Given the description of an element on the screen output the (x, y) to click on. 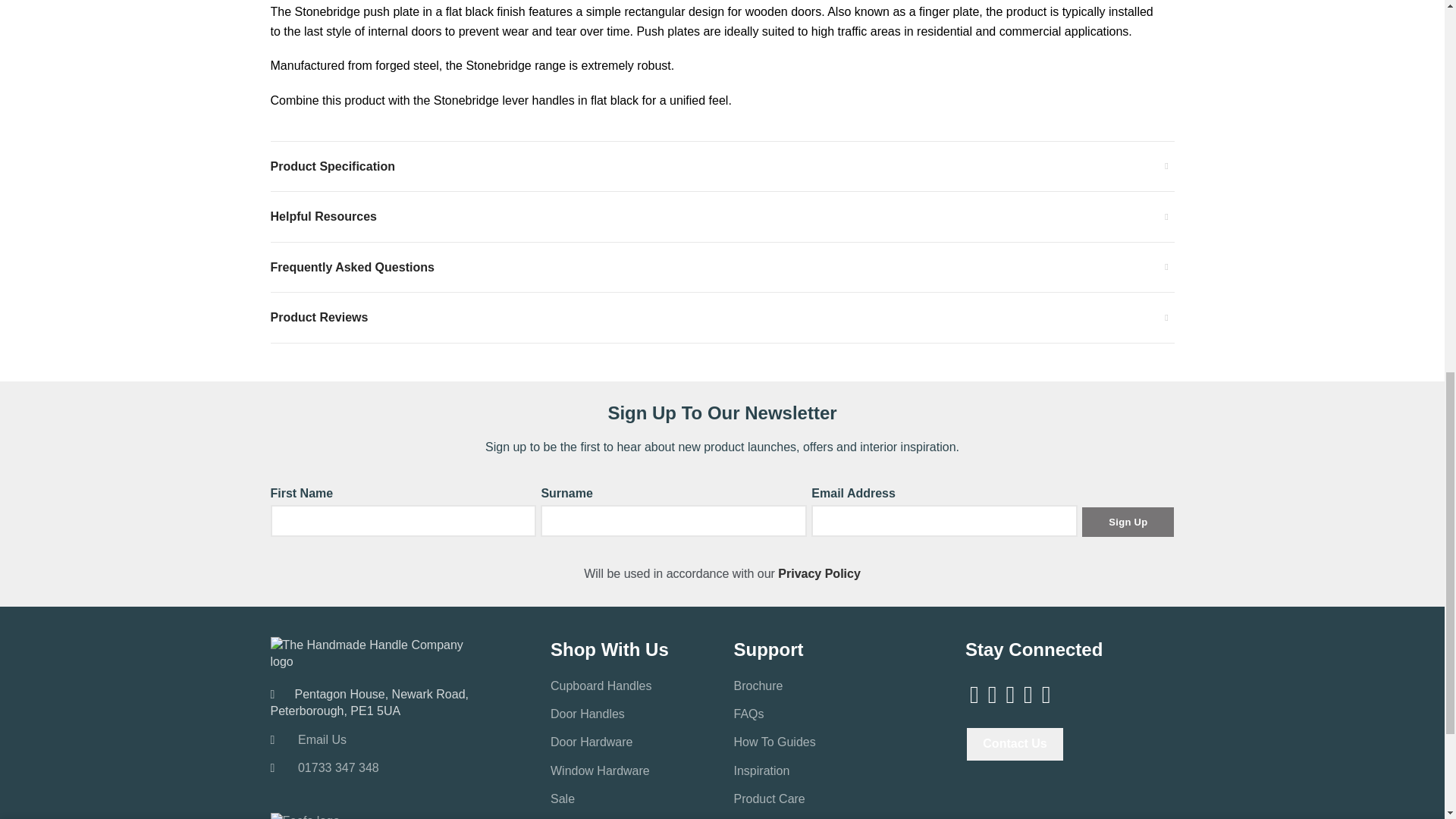
Sign up (1127, 521)
Our customer Feefo rating (304, 816)
